Given the description of an element on the screen output the (x, y) to click on. 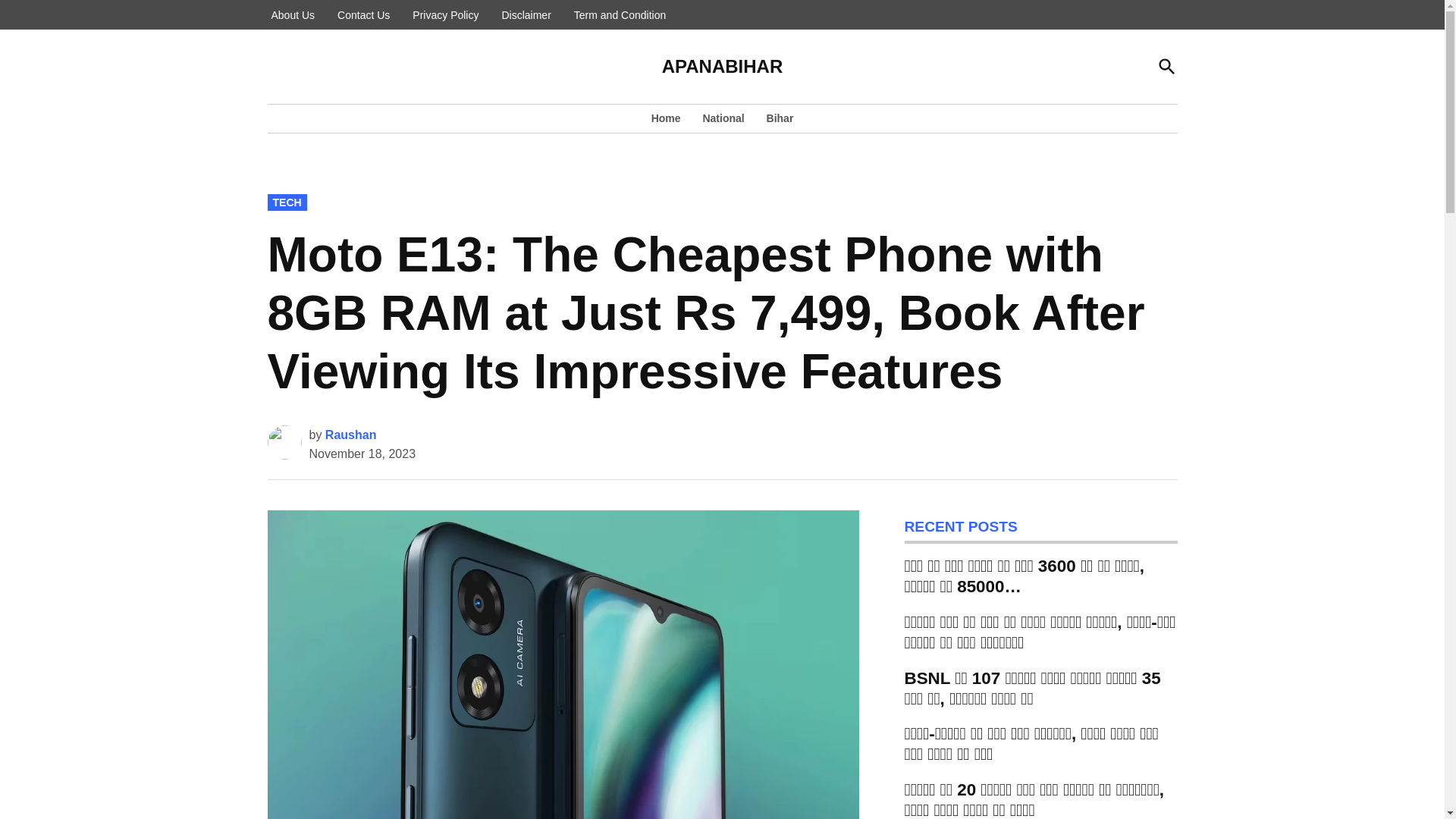
TECH (285, 202)
Contact Us (363, 14)
About Us (292, 14)
National (722, 117)
APANABIHAR (722, 66)
Privacy Policy (445, 14)
Term and Condition (619, 14)
Bihar (775, 117)
Raushan (350, 434)
Home (669, 117)
Disclaimer (525, 14)
